Given the description of an element on the screen output the (x, y) to click on. 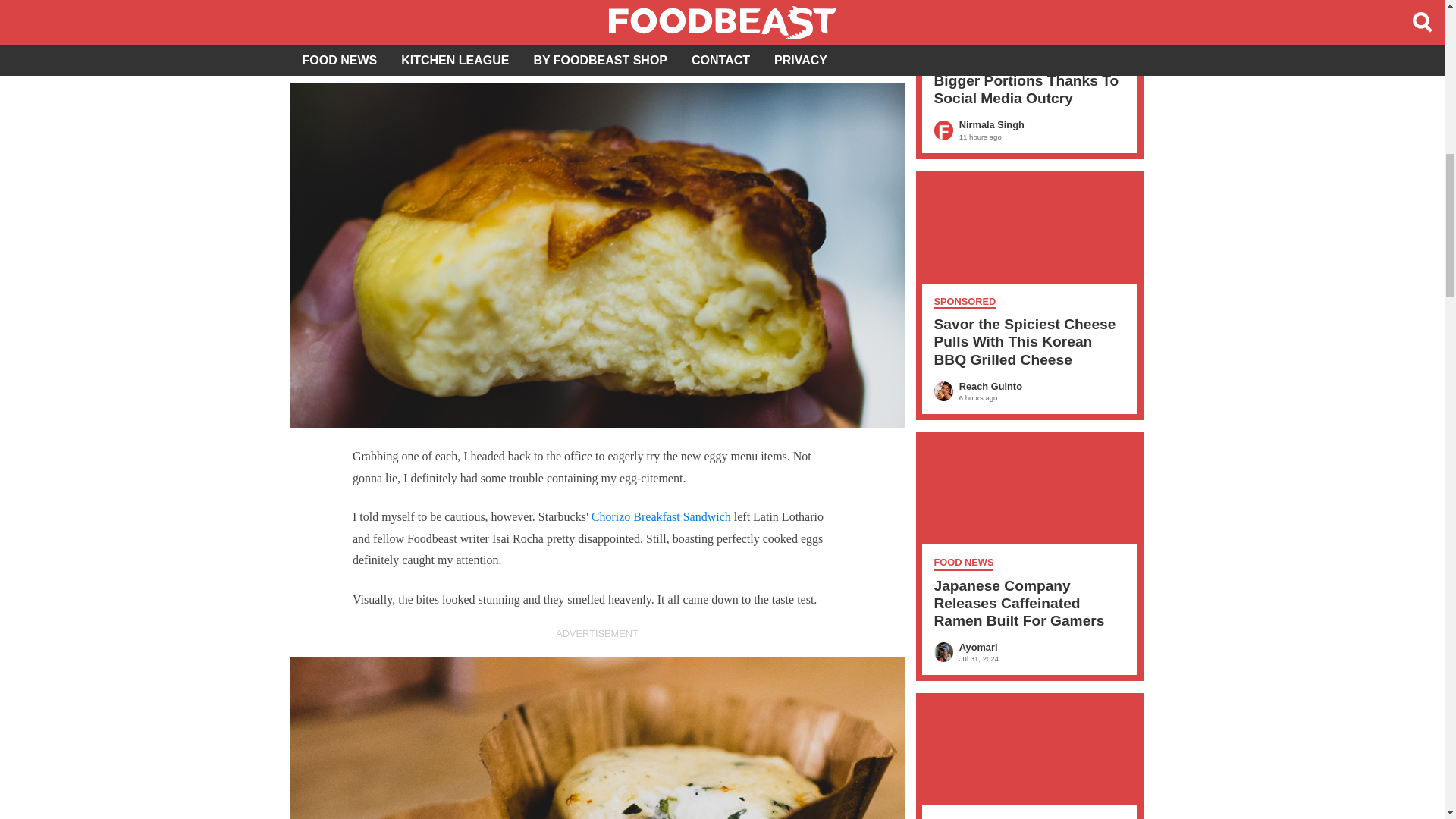
Chorizo Breakfast Sandwich (662, 516)
